Given the description of an element on the screen output the (x, y) to click on. 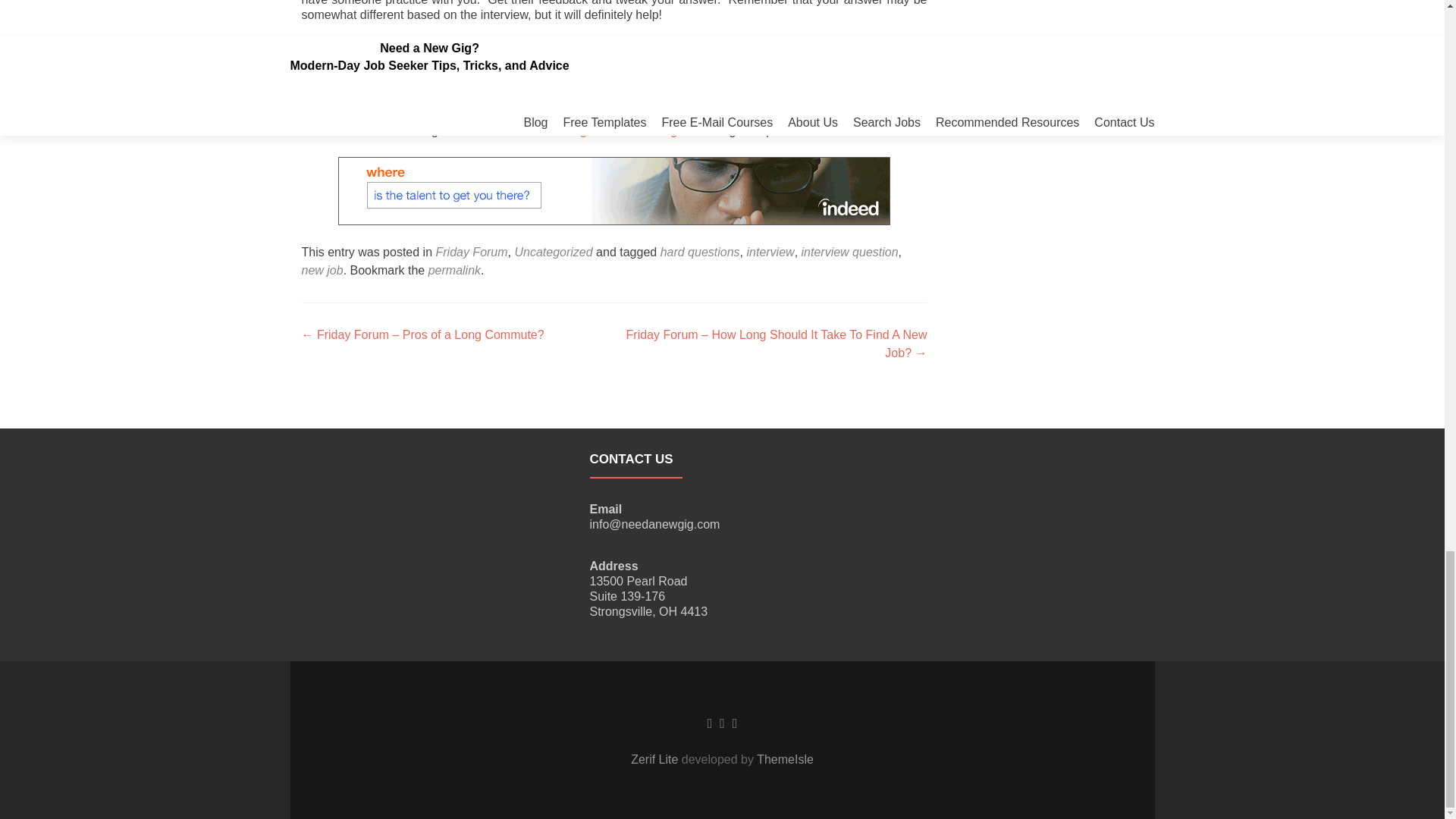
Zerif Lite (655, 758)
blog (666, 130)
Uncategorized (552, 251)
permalink (454, 269)
hard questions (700, 251)
Need a New Gig (543, 130)
Friday Forum (470, 251)
ThemeIsle (785, 758)
interview (769, 251)
Resilience Group, LLC (813, 115)
